Given the description of an element on the screen output the (x, y) to click on. 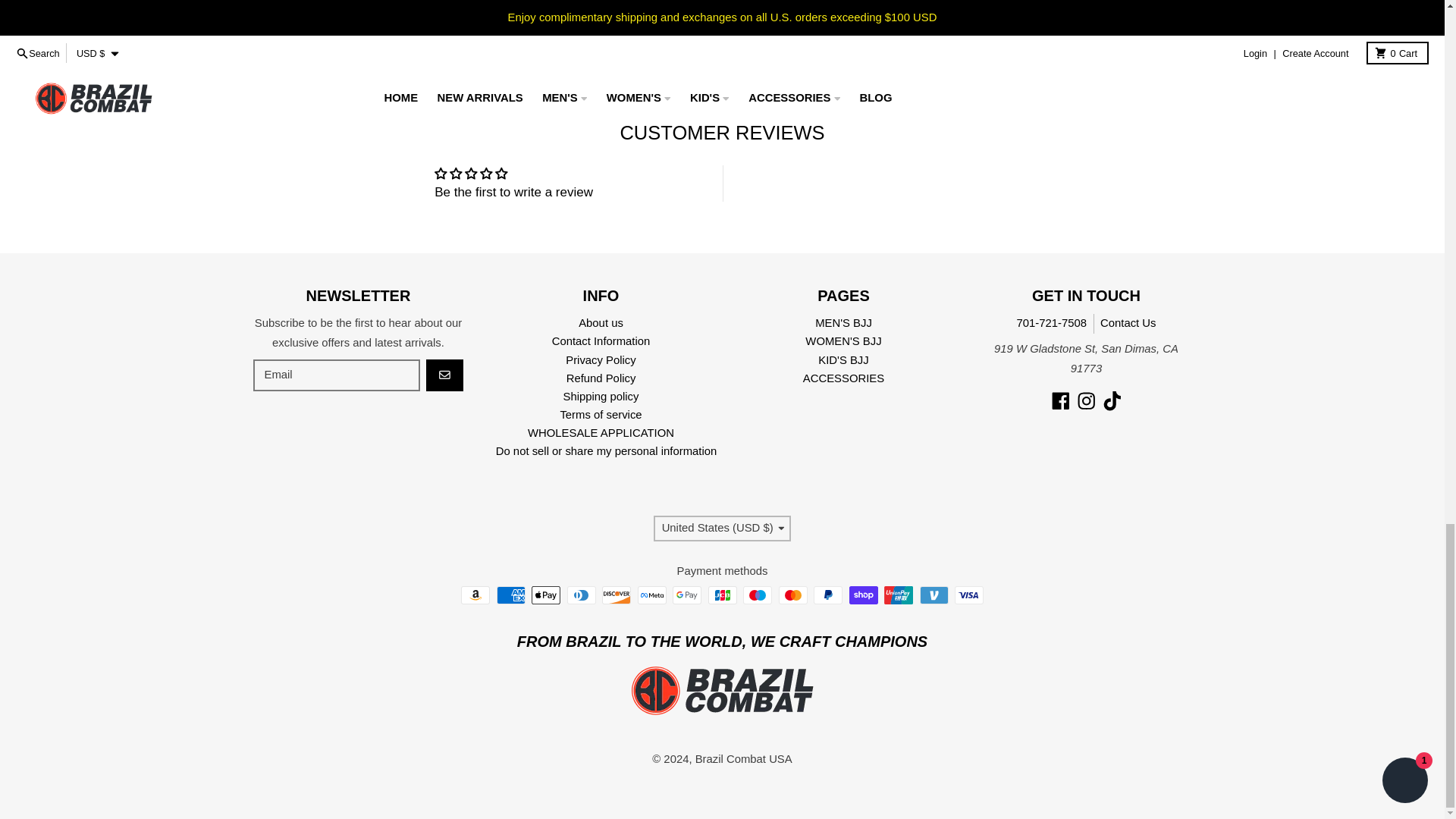
Instagram - Brazil Combat USA (1086, 401)
Facebook - Brazil Combat USA (1060, 401)
TikTok - Brazil Combat USA (1112, 401)
